Given the description of an element on the screen output the (x, y) to click on. 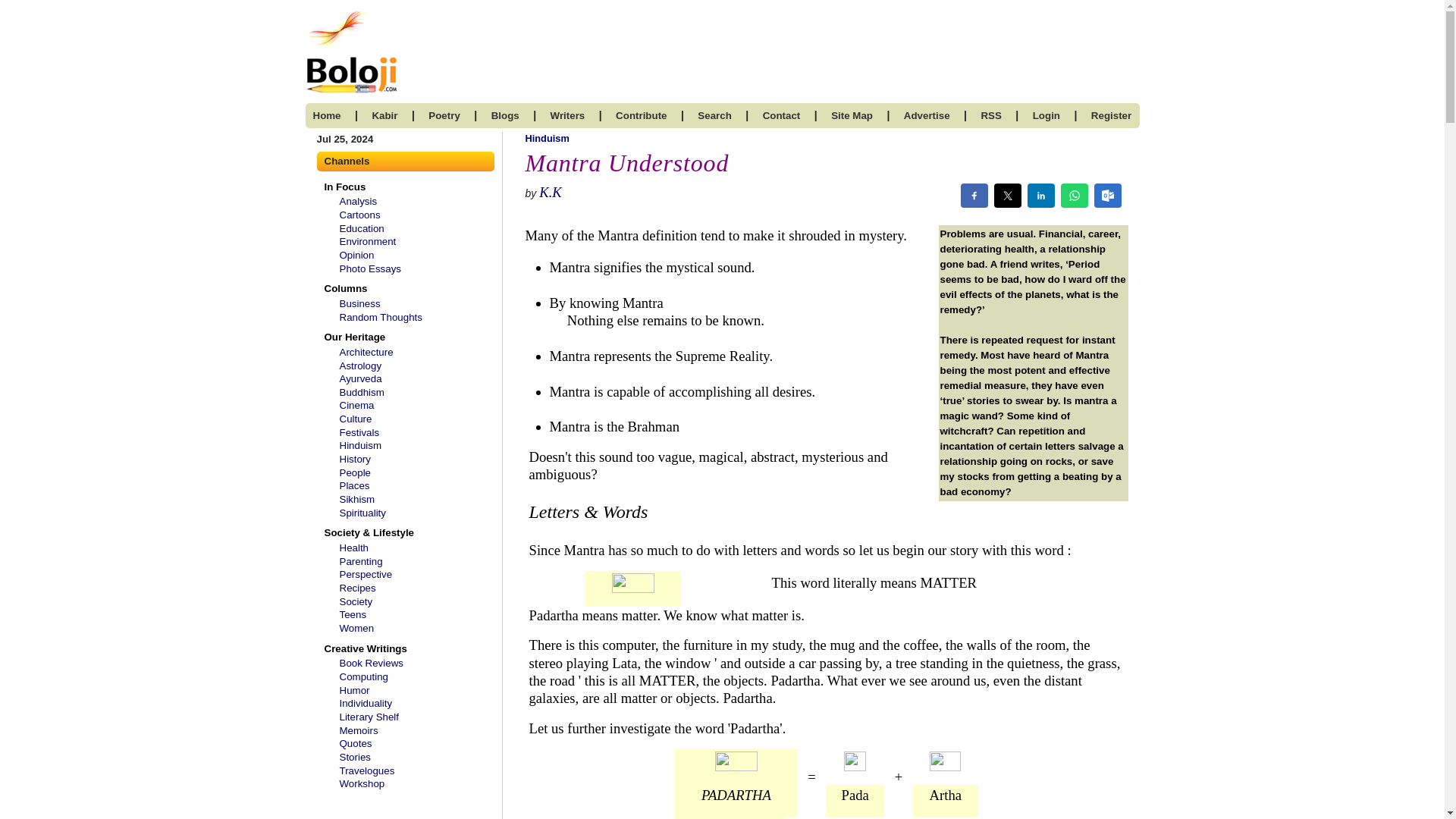
Kabir (384, 115)
Astrology (360, 365)
Analysis (358, 201)
Cinema (356, 405)
Register (1110, 115)
People (355, 472)
Education (361, 228)
Sikhism (357, 499)
Business (359, 303)
Our Heritage (351, 336)
RSS (990, 115)
Opinion (356, 255)
Festivals (359, 432)
Contact (781, 115)
Architecture (366, 351)
